Given the description of an element on the screen output the (x, y) to click on. 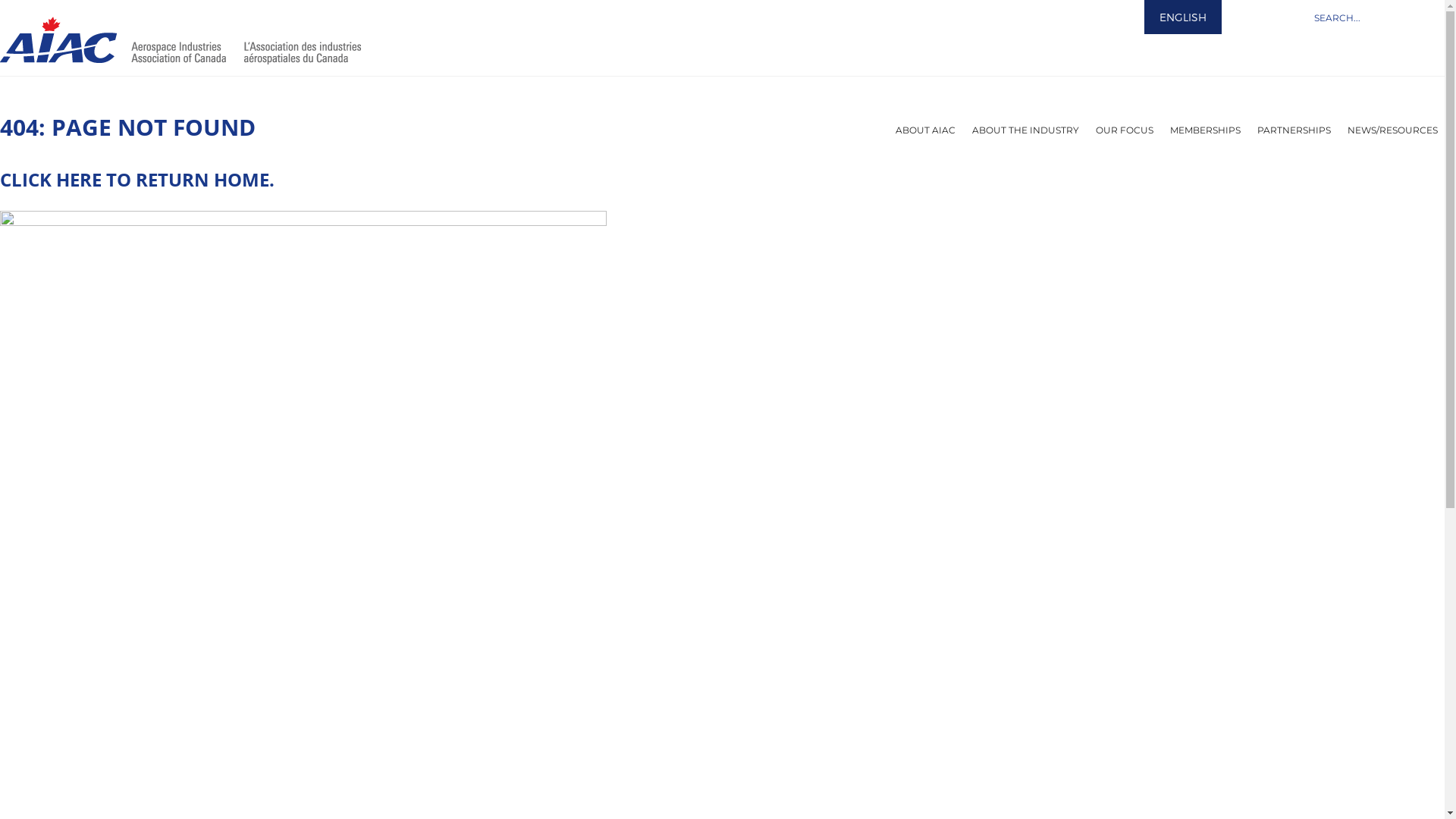
ENGLISH Element type: text (1182, 17)
CLICK HERE TO RETURN HOME. Element type: text (137, 178)
NEWS/RESOURCES Element type: text (1392, 130)
OUR FOCUS Element type: text (1124, 130)
ABOUT AIAC Element type: text (925, 130)
MEMBERSHIPS Element type: text (1205, 130)
PARTNERSHIPS Element type: text (1293, 130)
ABOUT THE INDUSTRY Element type: text (1025, 130)
